Given the description of an element on the screen output the (x, y) to click on. 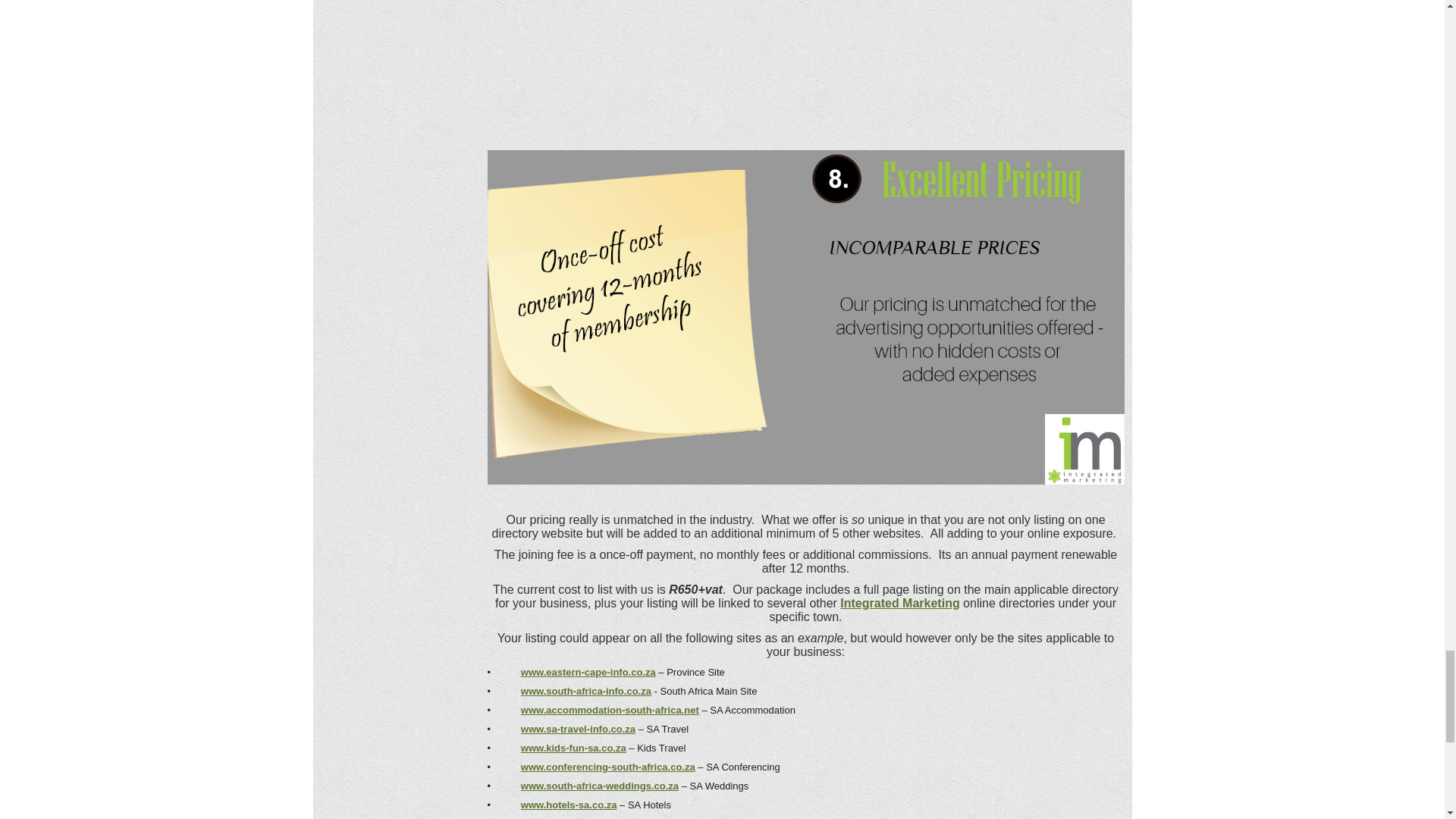
YouTube video player (804, 69)
